Given the description of an element on the screen output the (x, y) to click on. 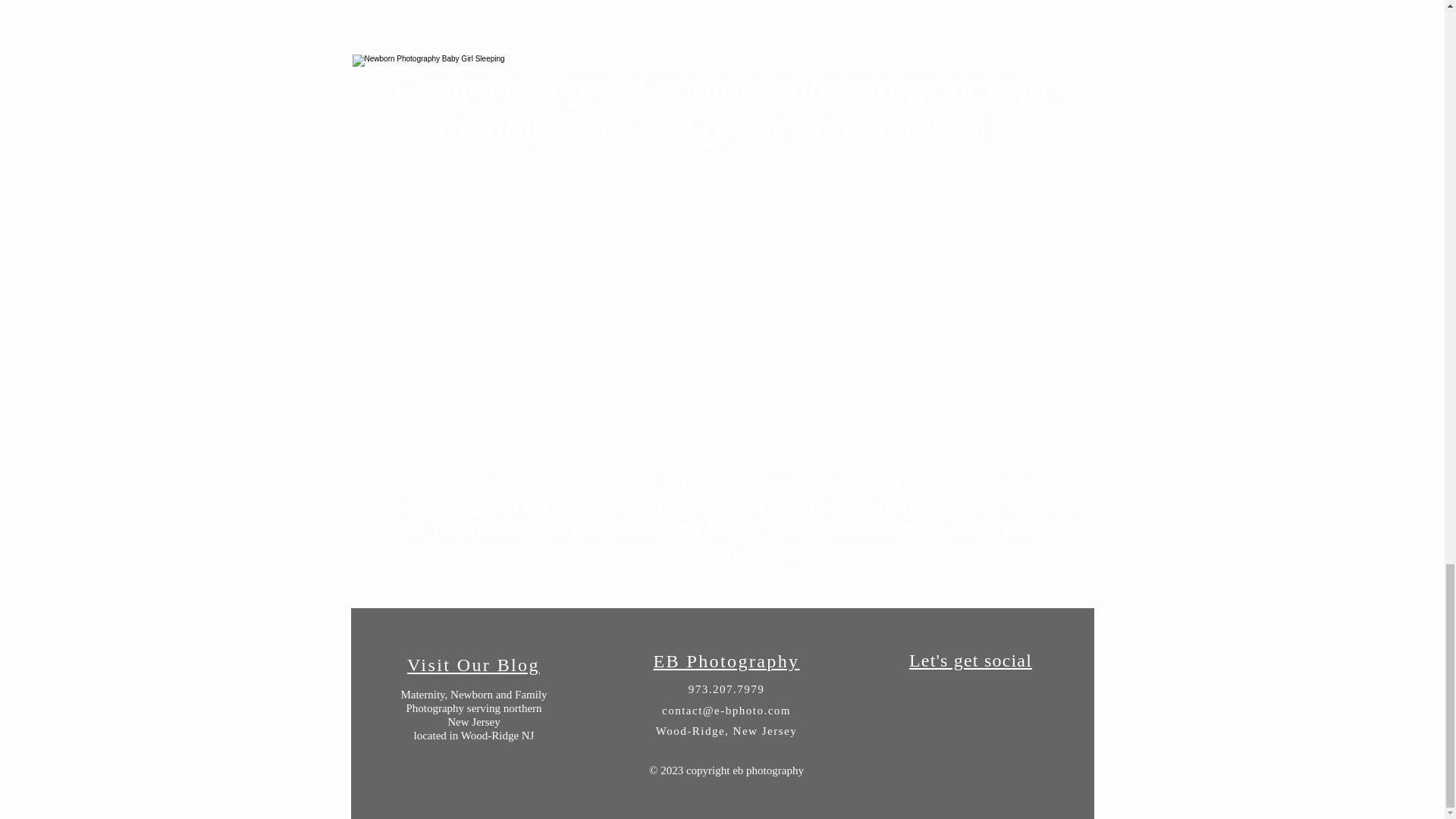
Visit Our Blog (473, 664)
